Given the description of an element on the screen output the (x, y) to click on. 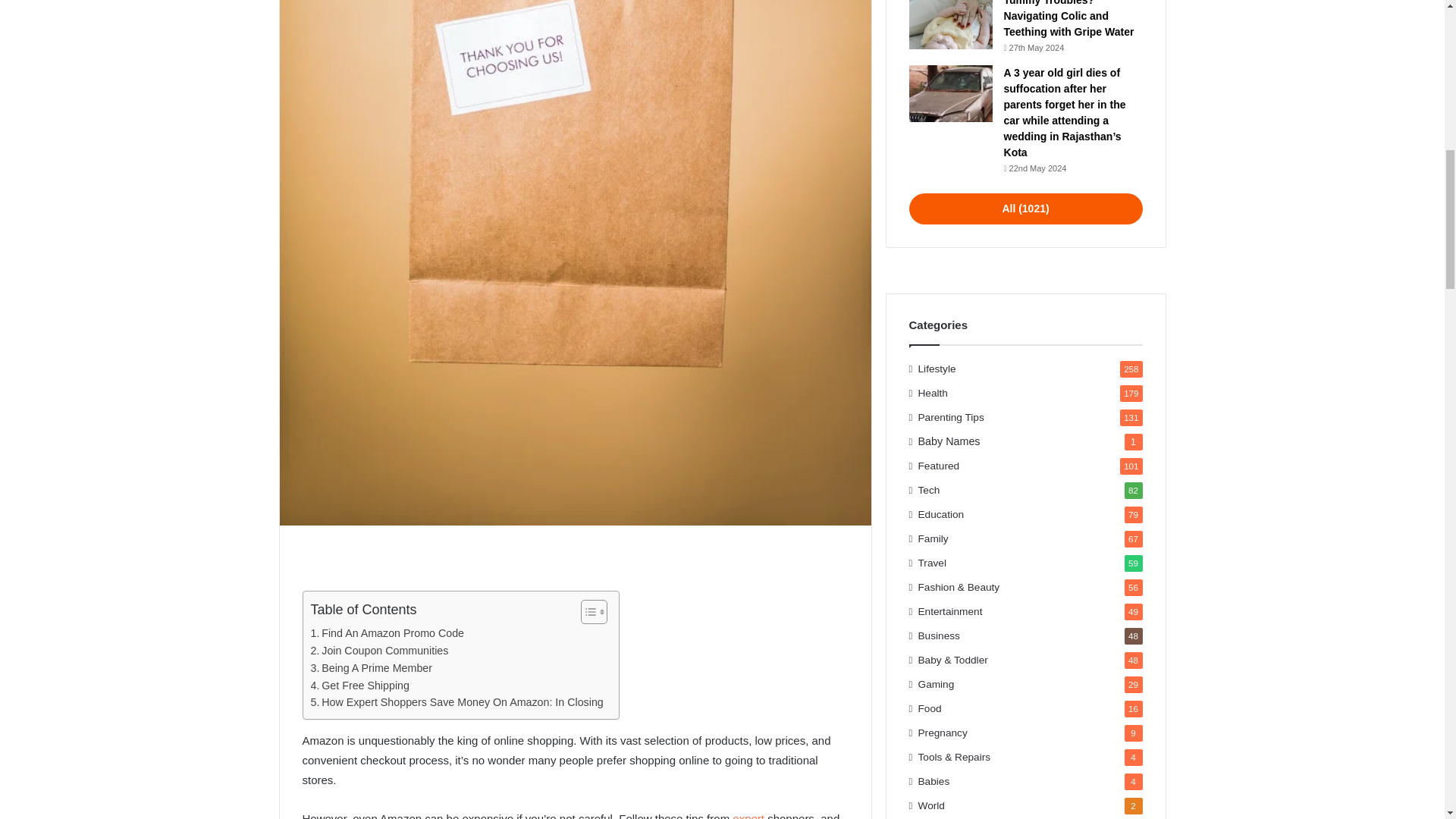
Get Free Shipping (360, 685)
Being A Prime Member (371, 668)
Find An Amazon Promo Code (387, 633)
expert (748, 815)
Being A Prime Member (371, 668)
Get Free Shipping (360, 685)
Join Coupon Communities (379, 651)
Find An Amazon Promo Code (387, 633)
Join Coupon Communities (379, 651)
How Expert Shoppers Save Money On Amazon: In Closing (457, 702)
How Expert Shoppers Save Money On Amazon: In Closing (457, 702)
